Given the description of an element on the screen output the (x, y) to click on. 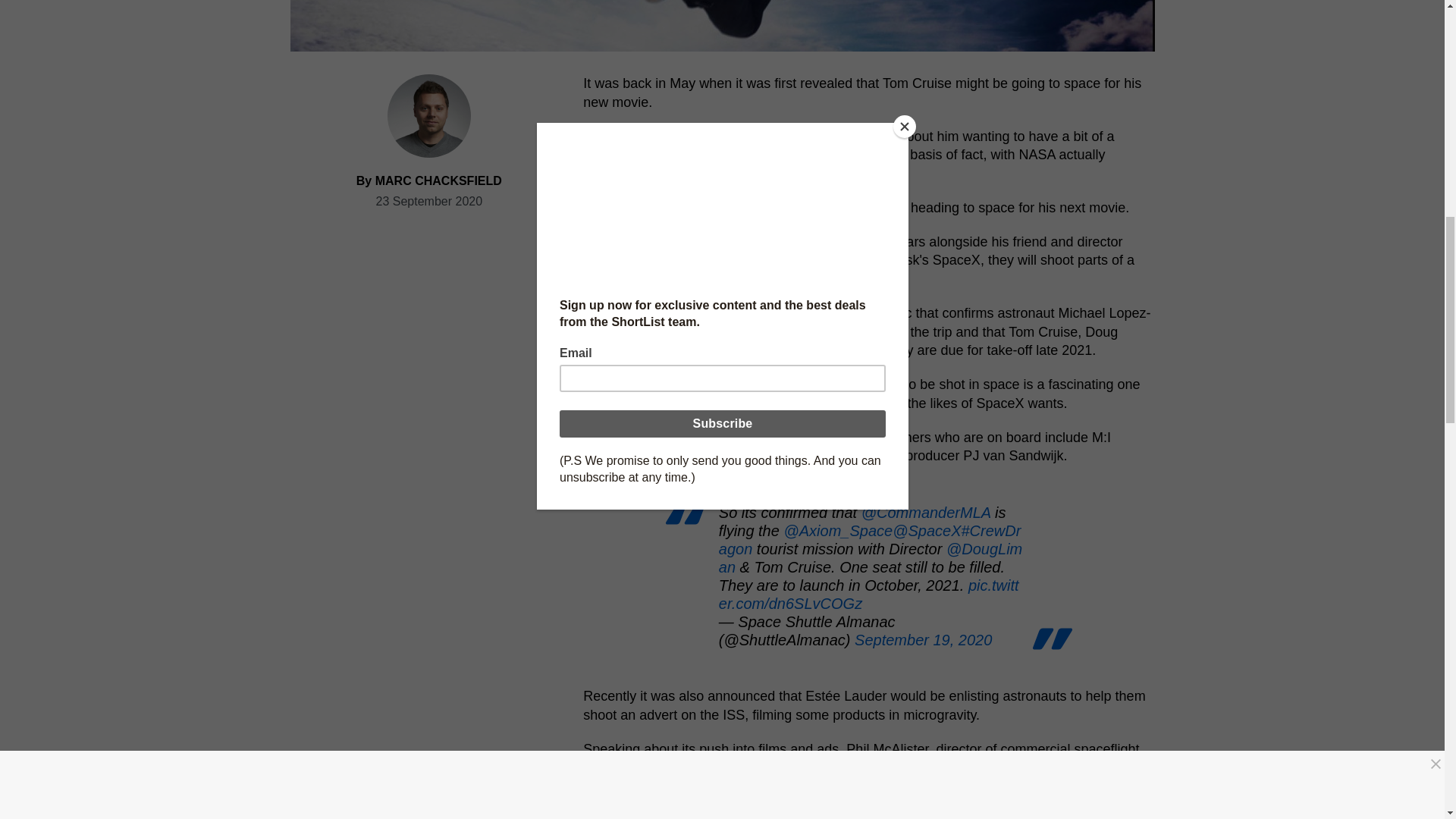
the time (623, 136)
By MARC CHACKSFIELD (429, 180)
September 19, 2020 (922, 639)
